Given the description of an element on the screen output the (x, y) to click on. 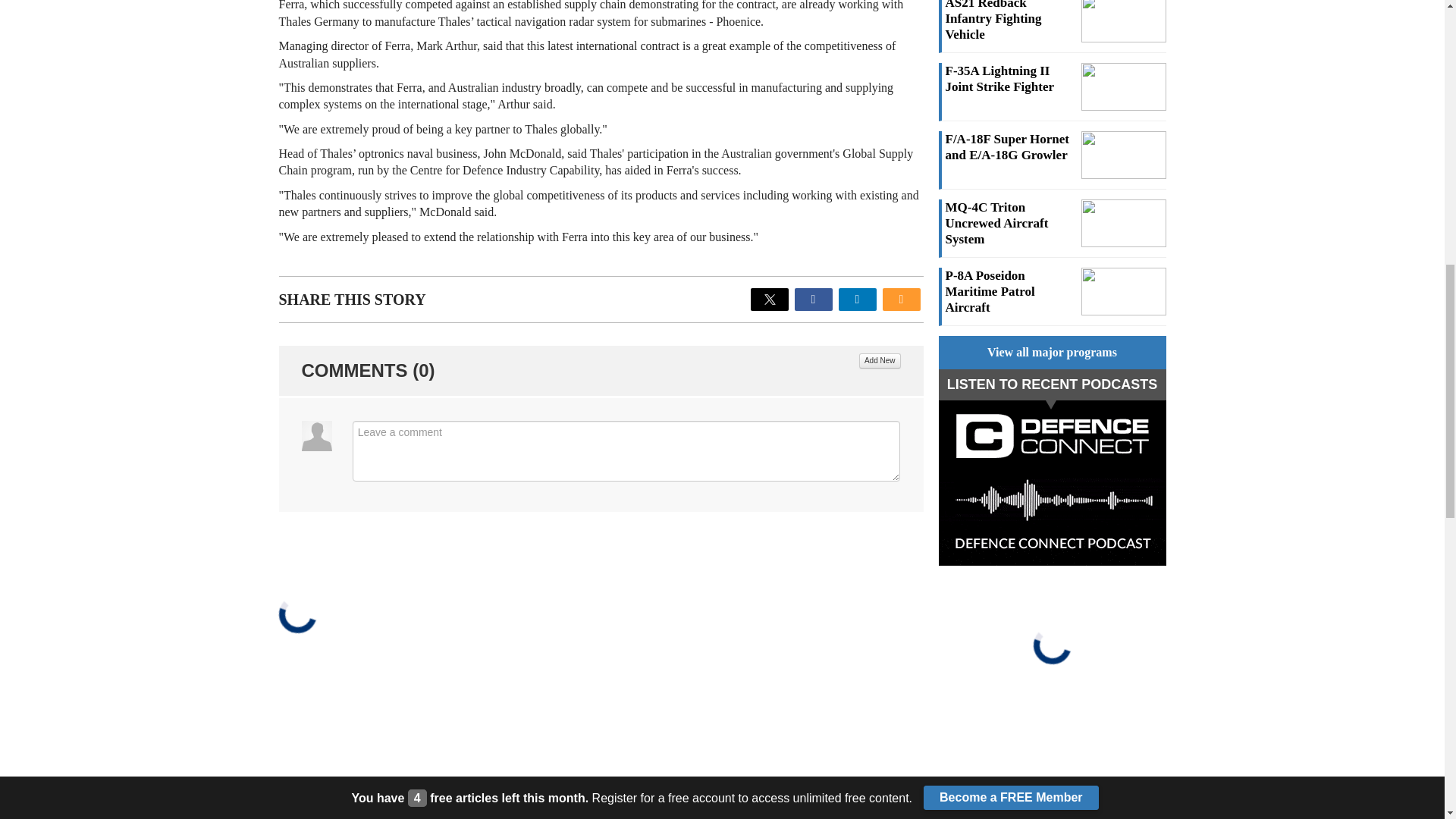
Add New (880, 360)
